Given the description of an element on the screen output the (x, y) to click on. 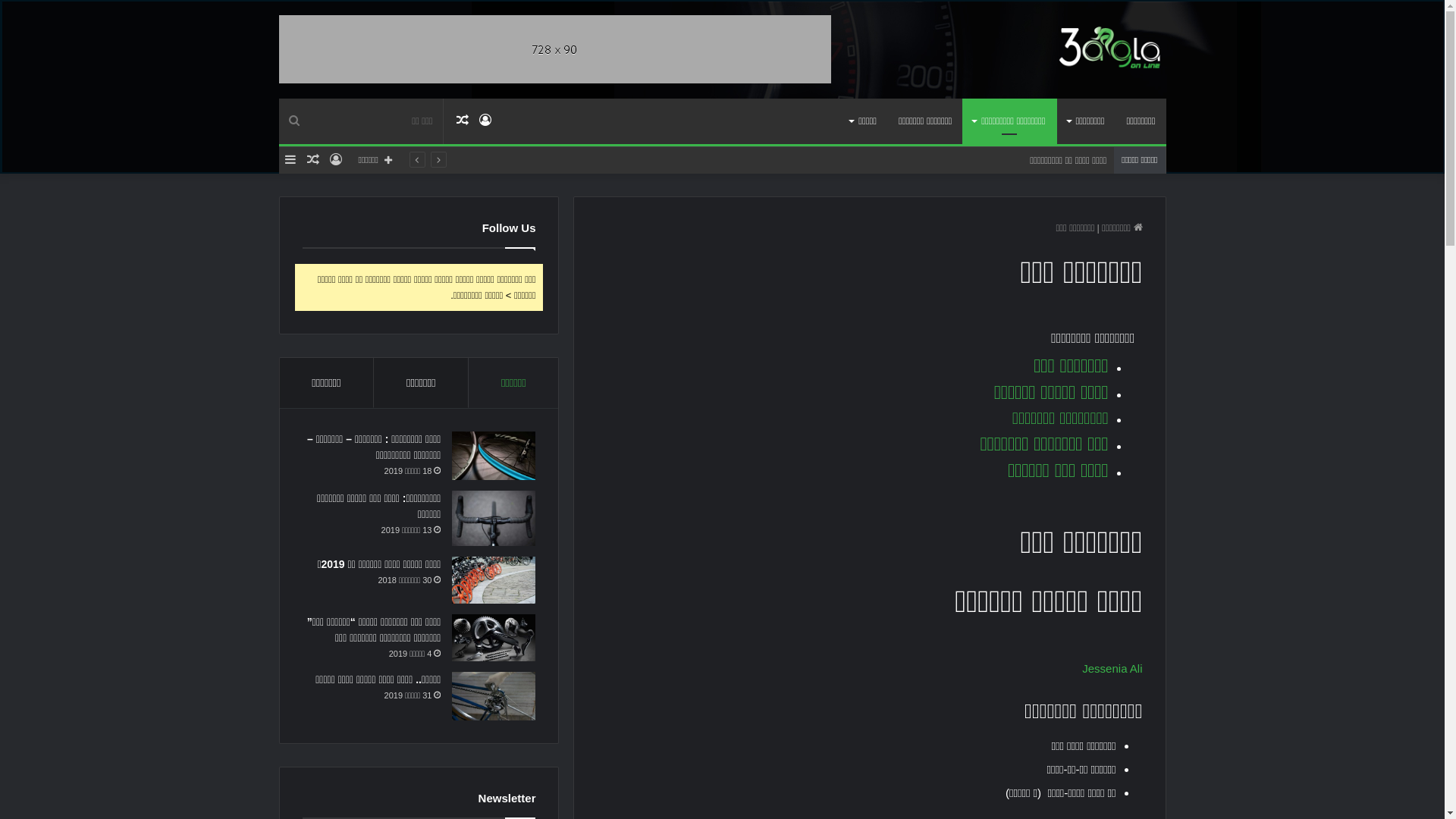
Jessenia Ali Element type: text (1112, 678)
